Given the description of an element on the screen output the (x, y) to click on. 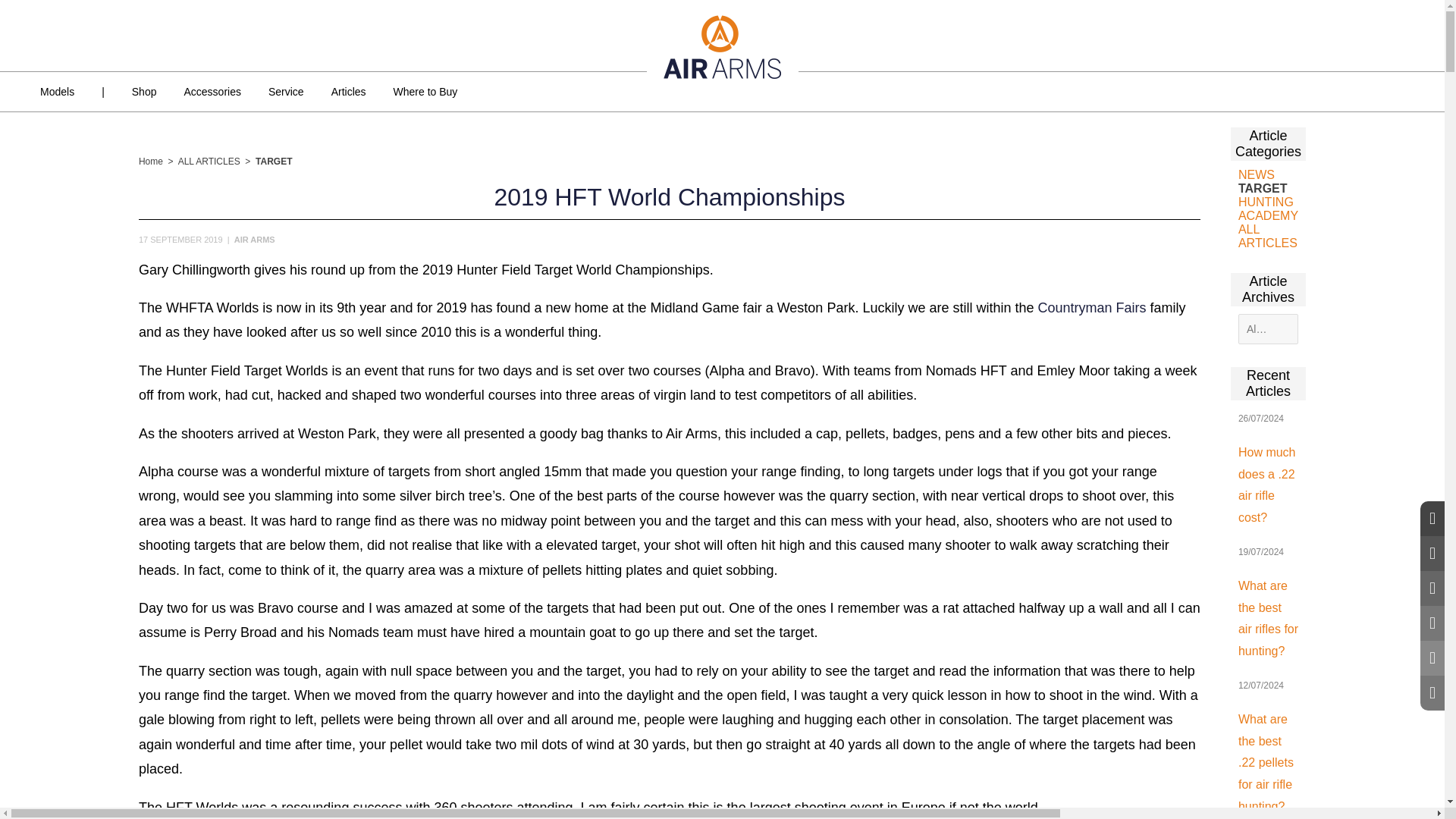
Models (56, 91)
